Given the description of an element on the screen output the (x, y) to click on. 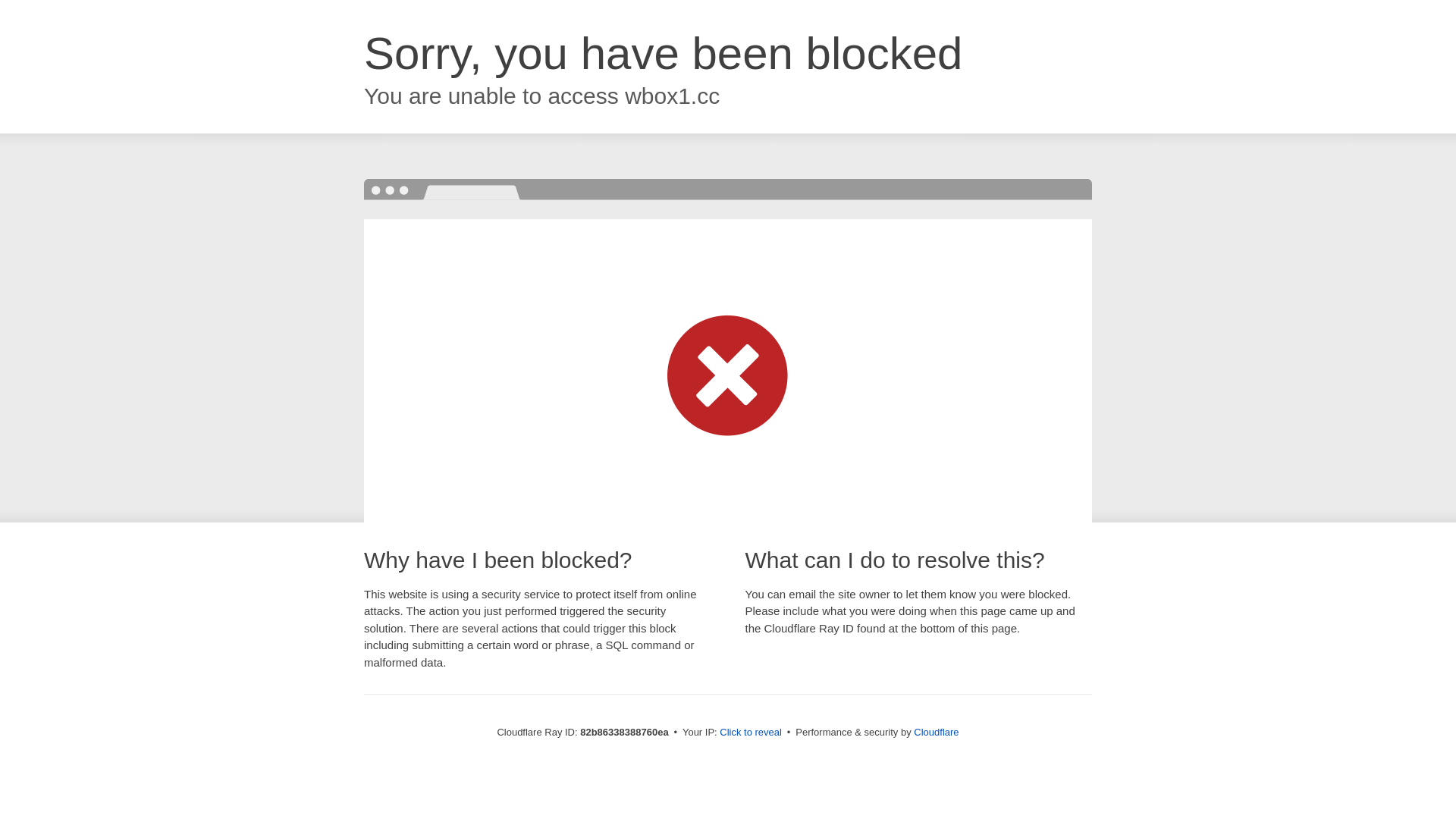
Click to reveal Element type: text (750, 732)
Cloudflare Element type: text (935, 731)
